Given the description of an element on the screen output the (x, y) to click on. 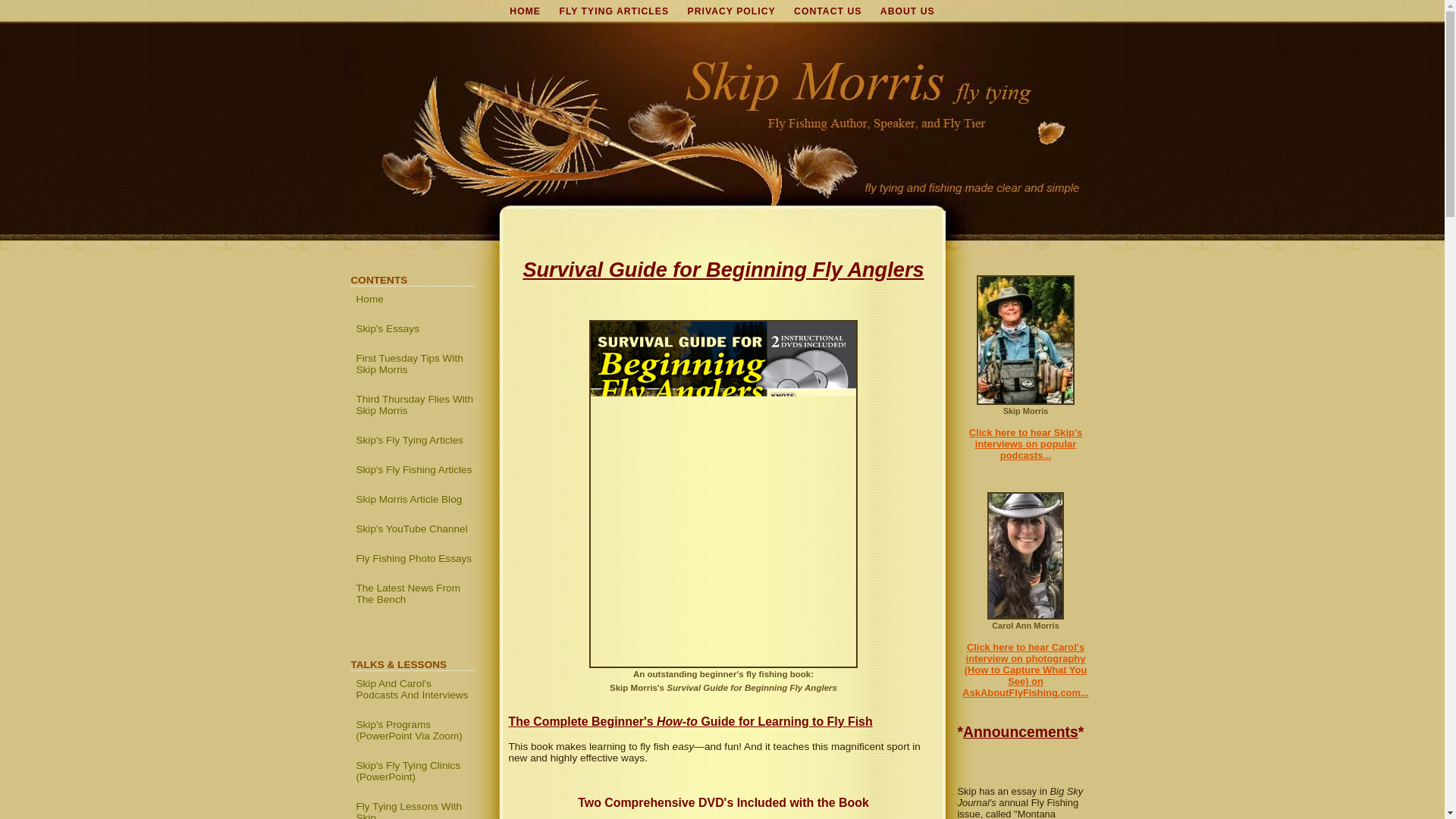
Home (414, 299)
Skip Morris (1024, 405)
PRIVACY POLICY (731, 10)
FLY TYING ARTICLES (614, 10)
Skip'S Fly Fishing Articles (414, 469)
ABOUT US (907, 10)
Fly Fishing Photo Essays (414, 558)
Skip'S Essays (414, 328)
HOME (525, 10)
CONTACT US (827, 10)
